Given the description of an element on the screen output the (x, y) to click on. 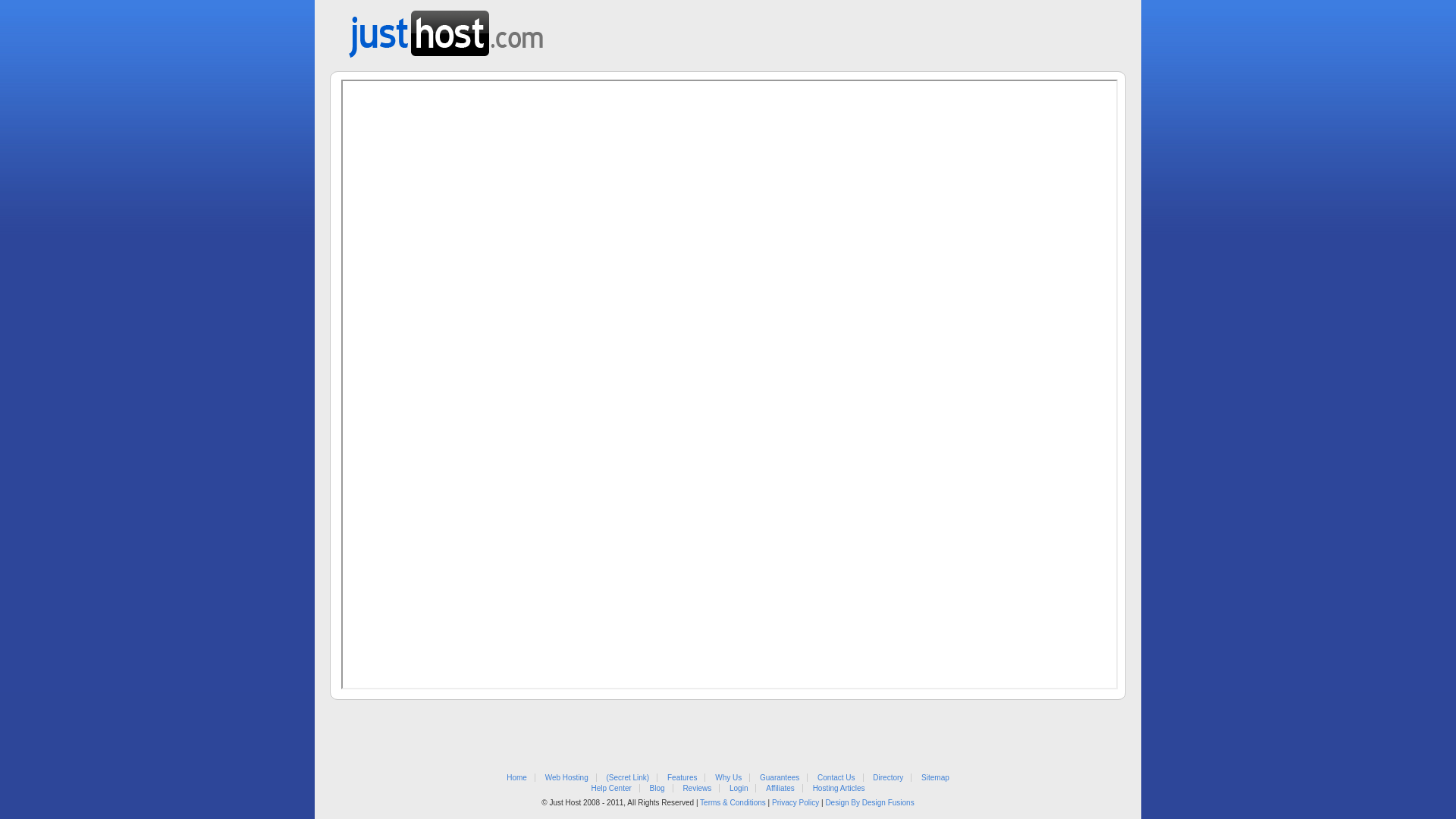
Web Hosting from Just Host Element type: text (445, 28)
Reviews Element type: text (696, 788)
Login Element type: text (738, 788)
Directory Element type: text (887, 777)
Help Center Element type: text (610, 788)
Sitemap Element type: text (935, 777)
Hosting Articles Element type: text (838, 788)
Privacy Policy Element type: text (795, 802)
Web Hosting Element type: text (566, 777)
Blog Element type: text (657, 788)
Features Element type: text (681, 777)
Guarantees Element type: text (779, 777)
Affiliates Element type: text (779, 788)
(Secret Link) Element type: text (627, 777)
Home Element type: text (516, 777)
Why Us Element type: text (728, 777)
Design By Design Fusions Element type: text (869, 802)
Terms & Conditions Element type: text (732, 802)
Contact Us Element type: text (835, 777)
